Given the description of an element on the screen output the (x, y) to click on. 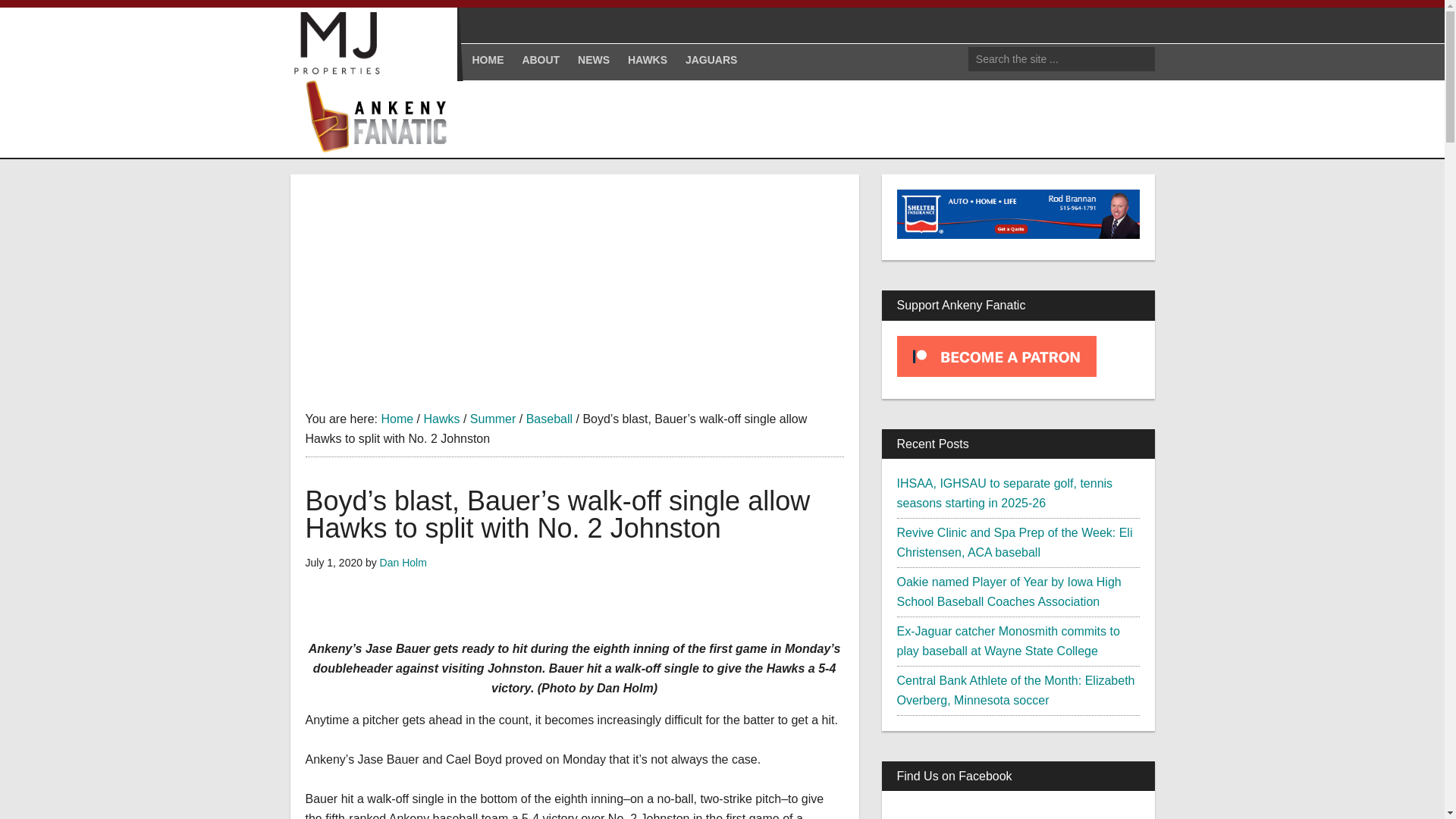
HOME (487, 59)
JAGUARS (711, 59)
HAWKS (647, 59)
Ankeny Fanatic (380, 117)
NEWS (593, 59)
ABOUT (540, 59)
Advertisement (573, 287)
